Given the description of an element on the screen output the (x, y) to click on. 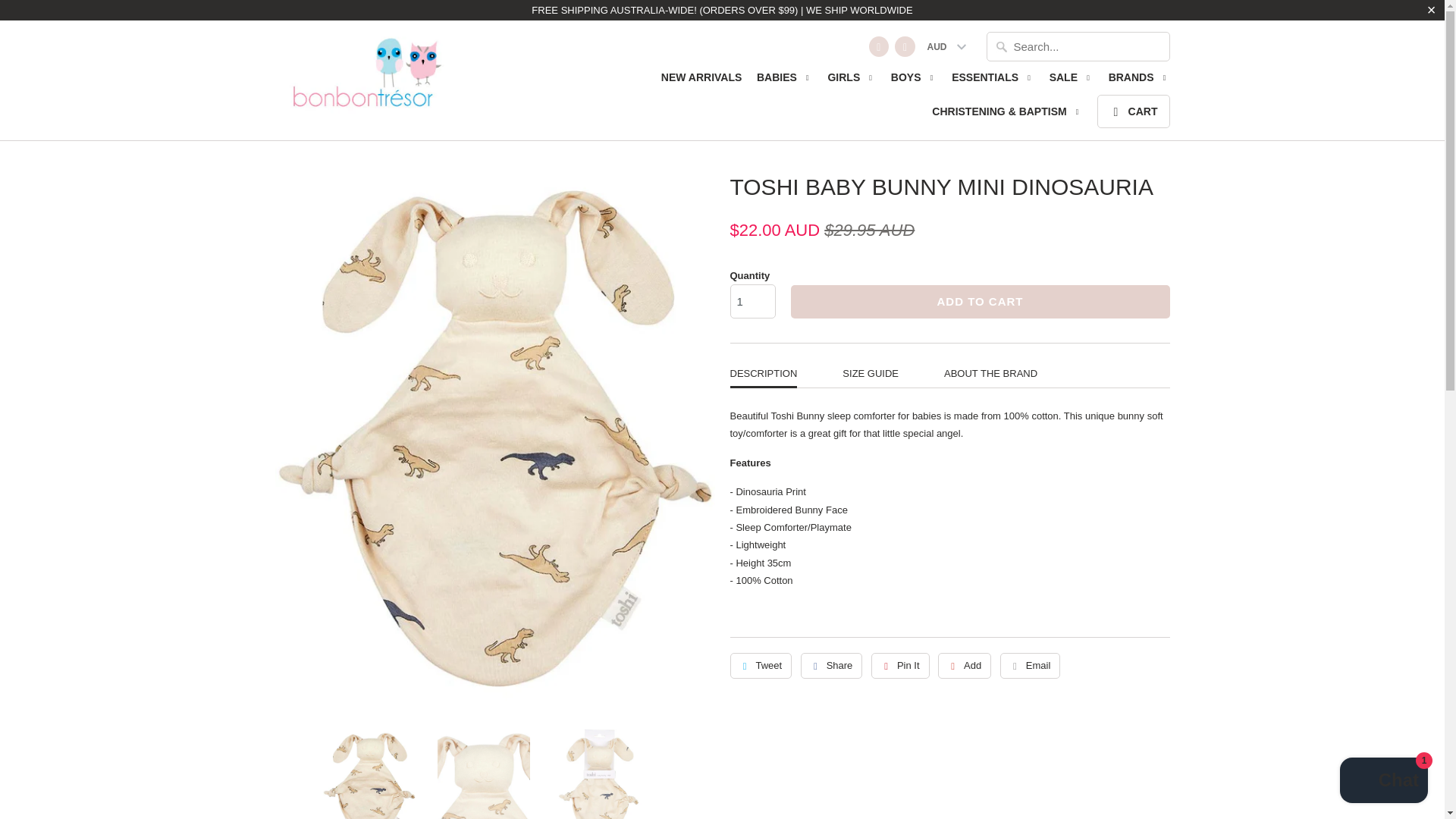
ESSENTIALS (992, 81)
SALE (1071, 81)
Bon Bon Tresor on Facebook (878, 46)
Cart (1133, 111)
Bon Bon Tresor (363, 76)
Shopify online store chat (1383, 781)
1 (751, 301)
Share this on Pinterest (900, 665)
BRANDS (1139, 81)
Share this on Facebook (831, 665)
GIRLS (851, 81)
Bon Bon Tresor on Instagram (904, 46)
BABIES (784, 81)
BOYS (914, 81)
NEW ARRIVALS (701, 80)
